Given the description of an element on the screen output the (x, y) to click on. 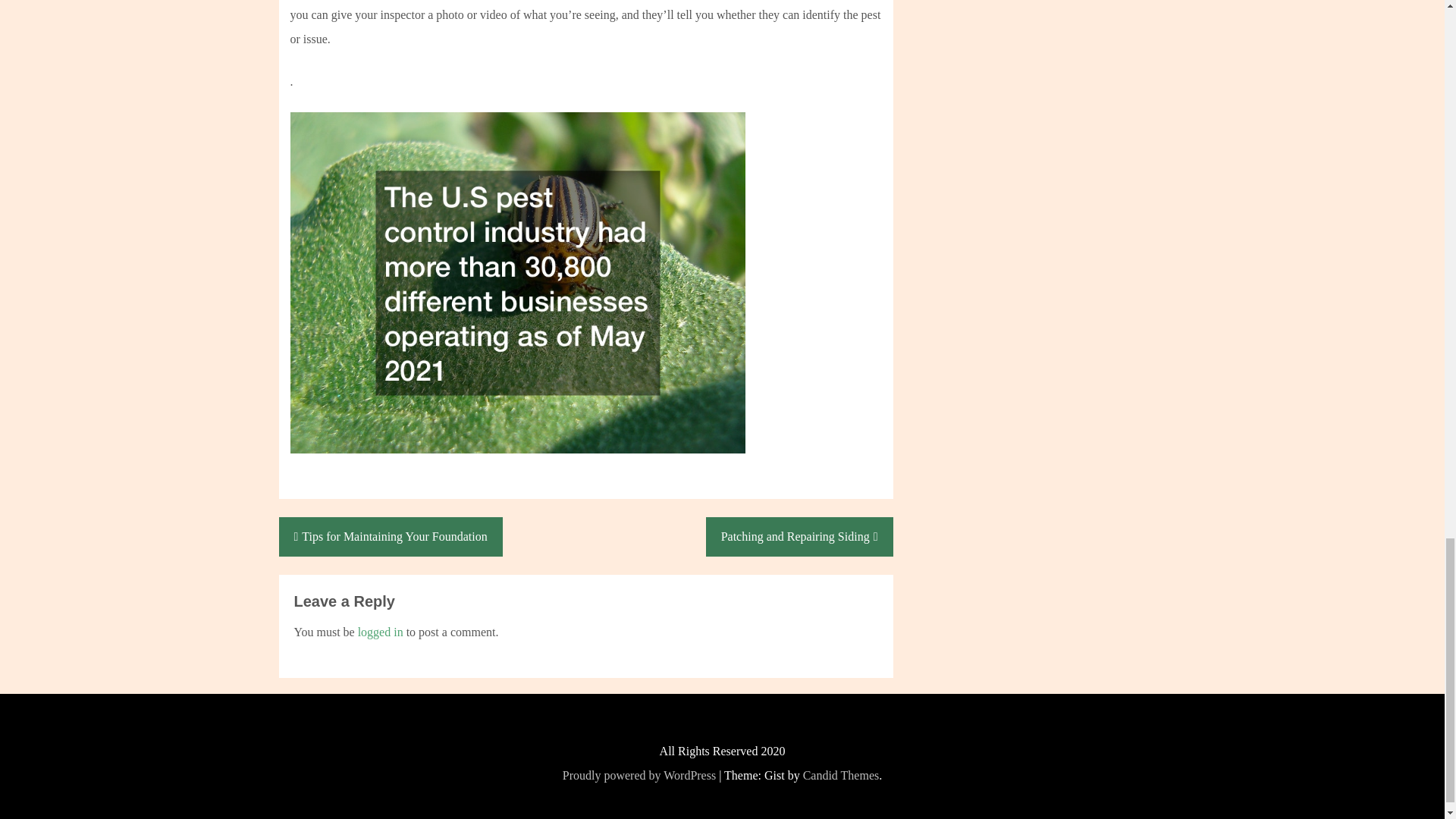
logged in (380, 631)
Tips for Maintaining Your Foundation (390, 536)
Patching and Repairing Siding (799, 536)
